Given the description of an element on the screen output the (x, y) to click on. 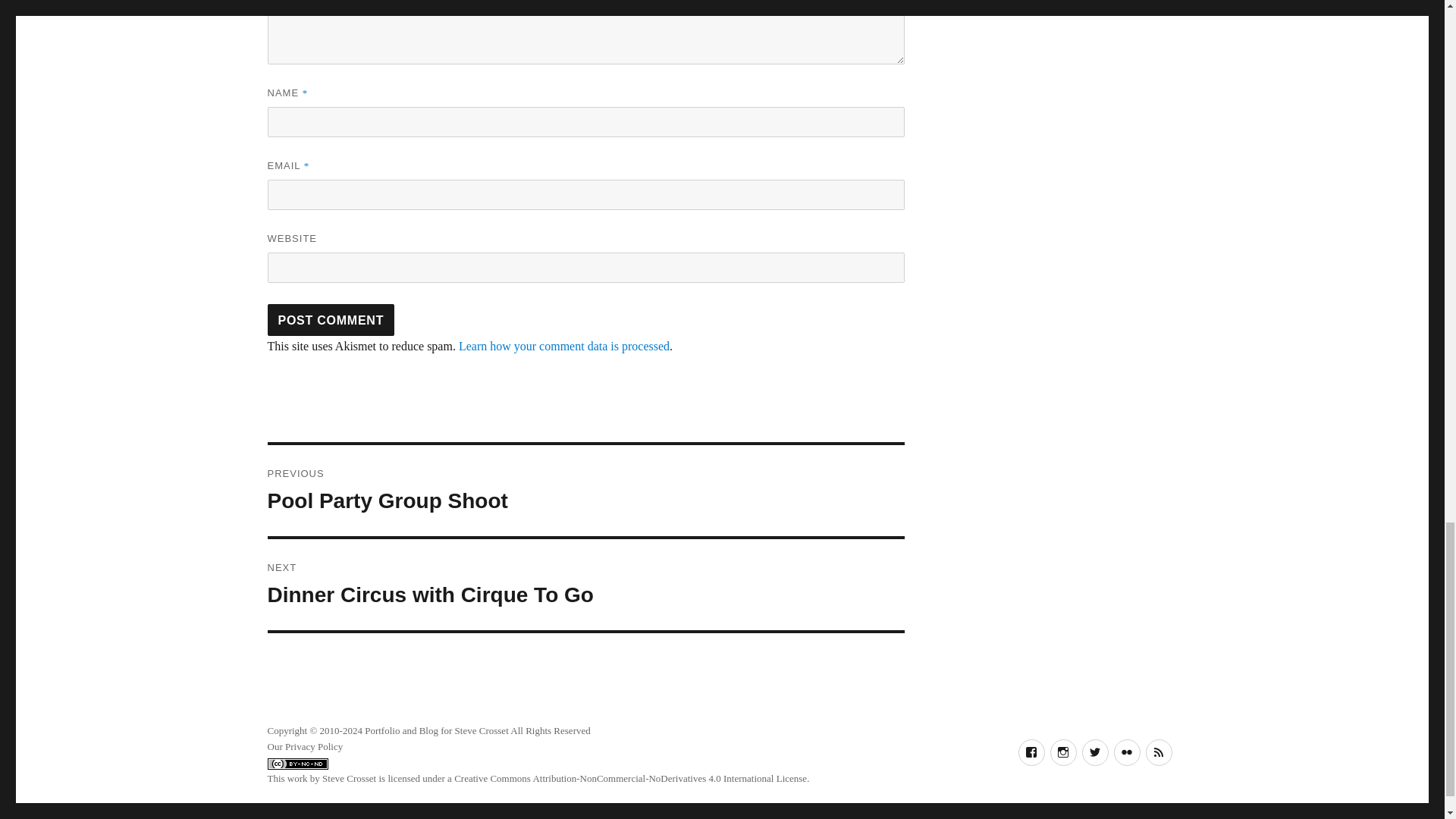
Portfolio and Blog for Steve Crosset (436, 730)
Post Comment (330, 319)
